Given the description of an element on the screen output the (x, y) to click on. 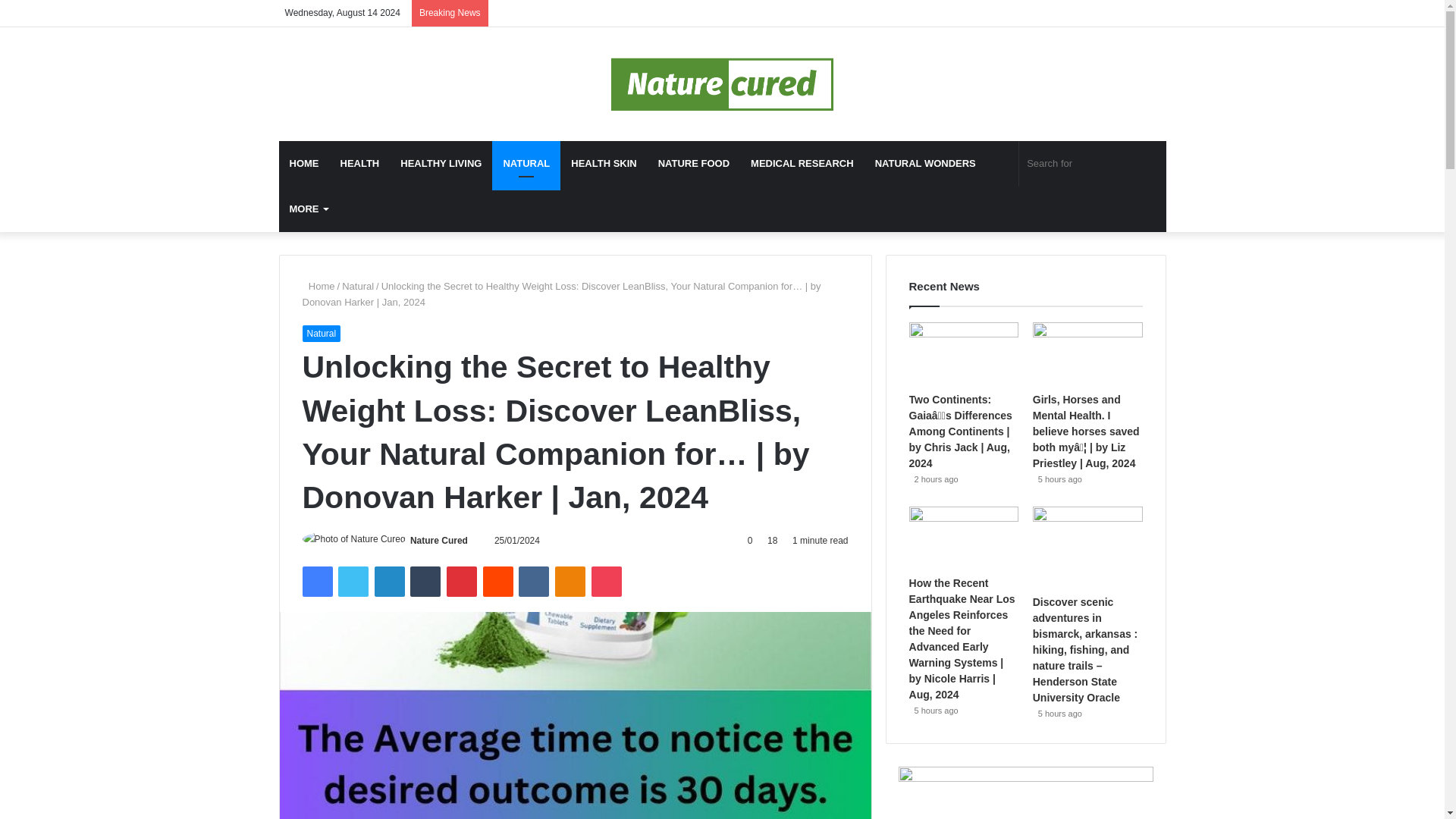
MEDICAL RESEARCH (801, 163)
MORE (308, 208)
NATURAL WONDERS (925, 163)
Twitter (352, 581)
HEALTH (359, 163)
Nature Cured (721, 83)
HEALTH SKIN (603, 163)
Odnoklassniki (569, 581)
HEALTHY LIVING (441, 163)
NATURE FOOD (693, 163)
